Given the description of an element on the screen output the (x, y) to click on. 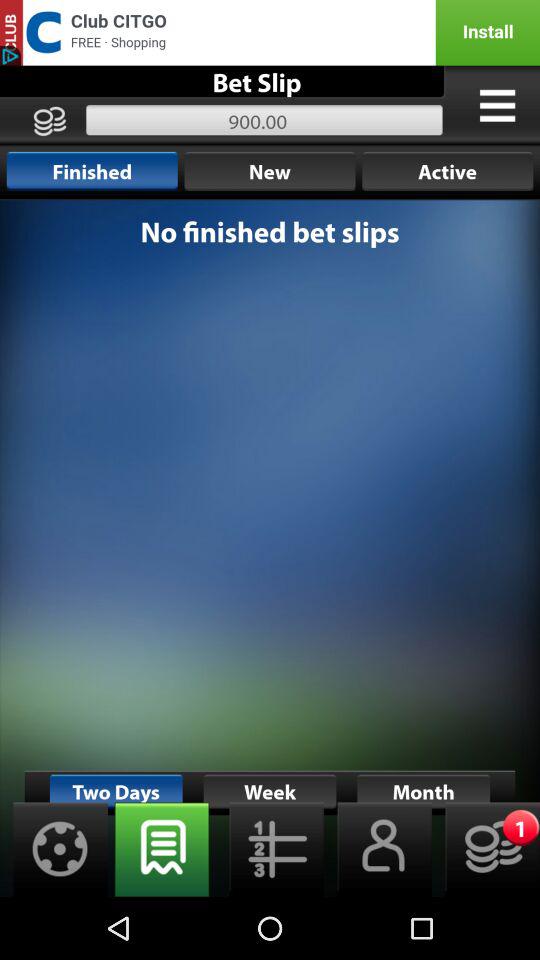
chips button (486, 849)
